Given the description of an element on the screen output the (x, y) to click on. 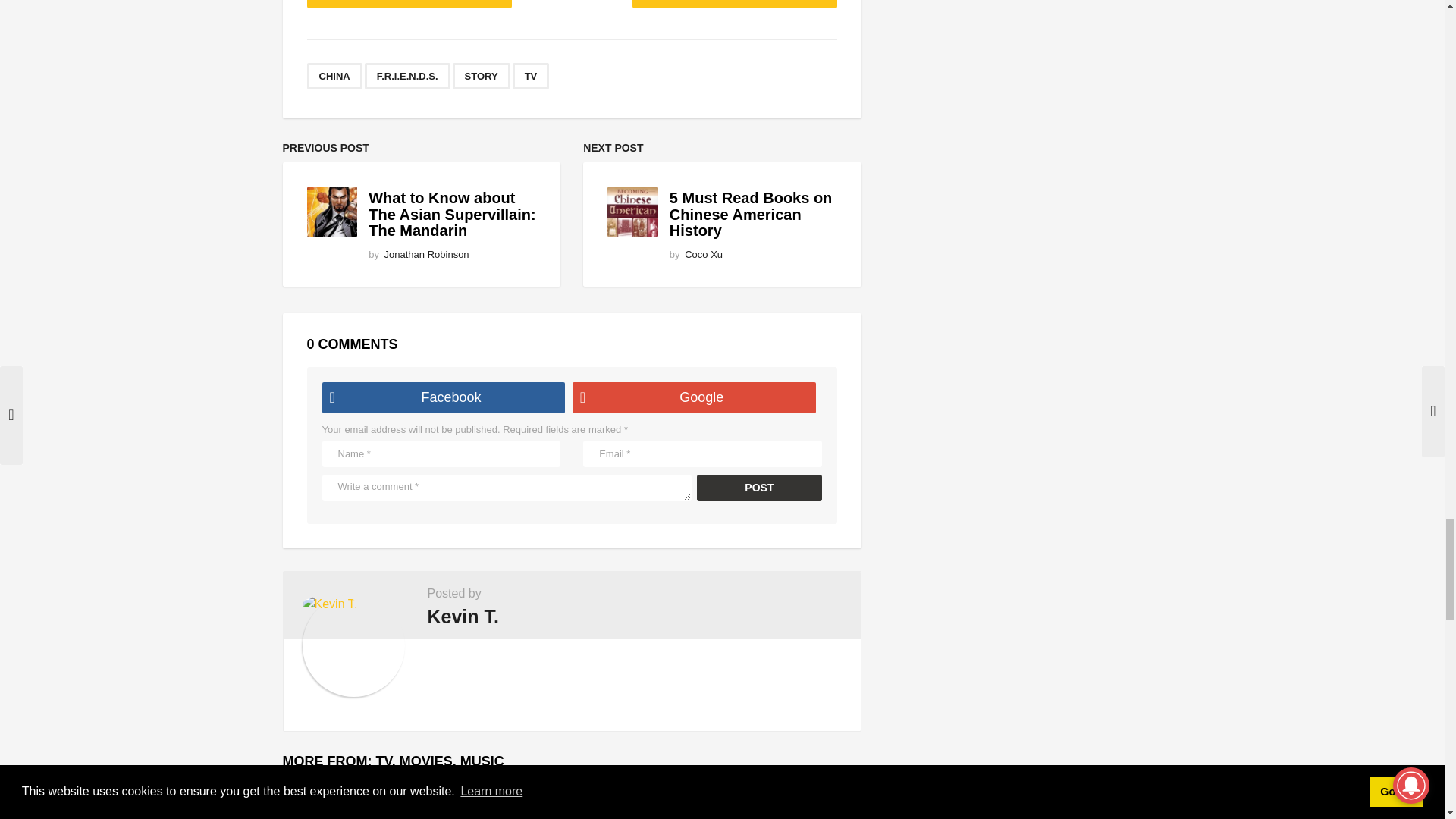
Top 10 Chinese Movies That Will Make You Cry (420, 801)
Post (759, 488)
